Given the description of an element on the screen output the (x, y) to click on. 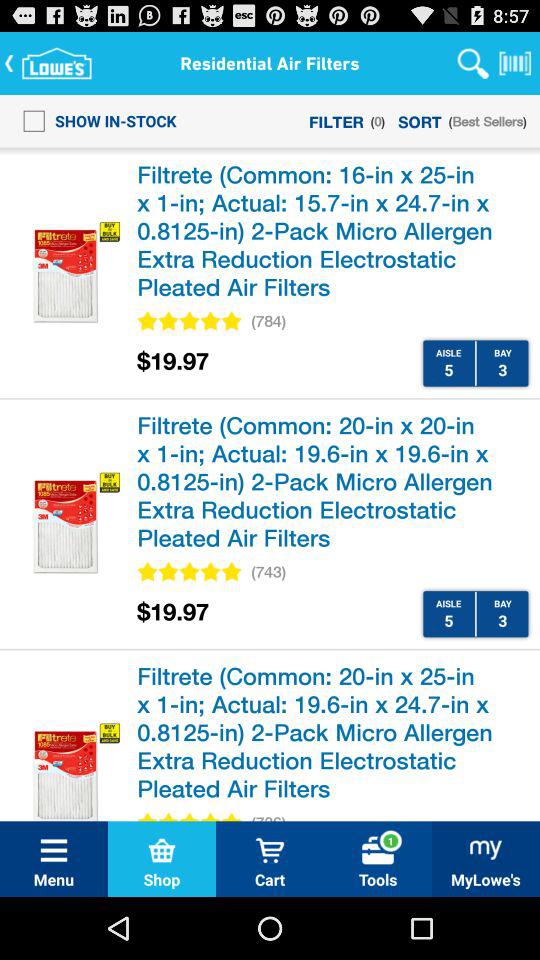
click the icon next to the show in-stock item (336, 120)
